Given the description of an element on the screen output the (x, y) to click on. 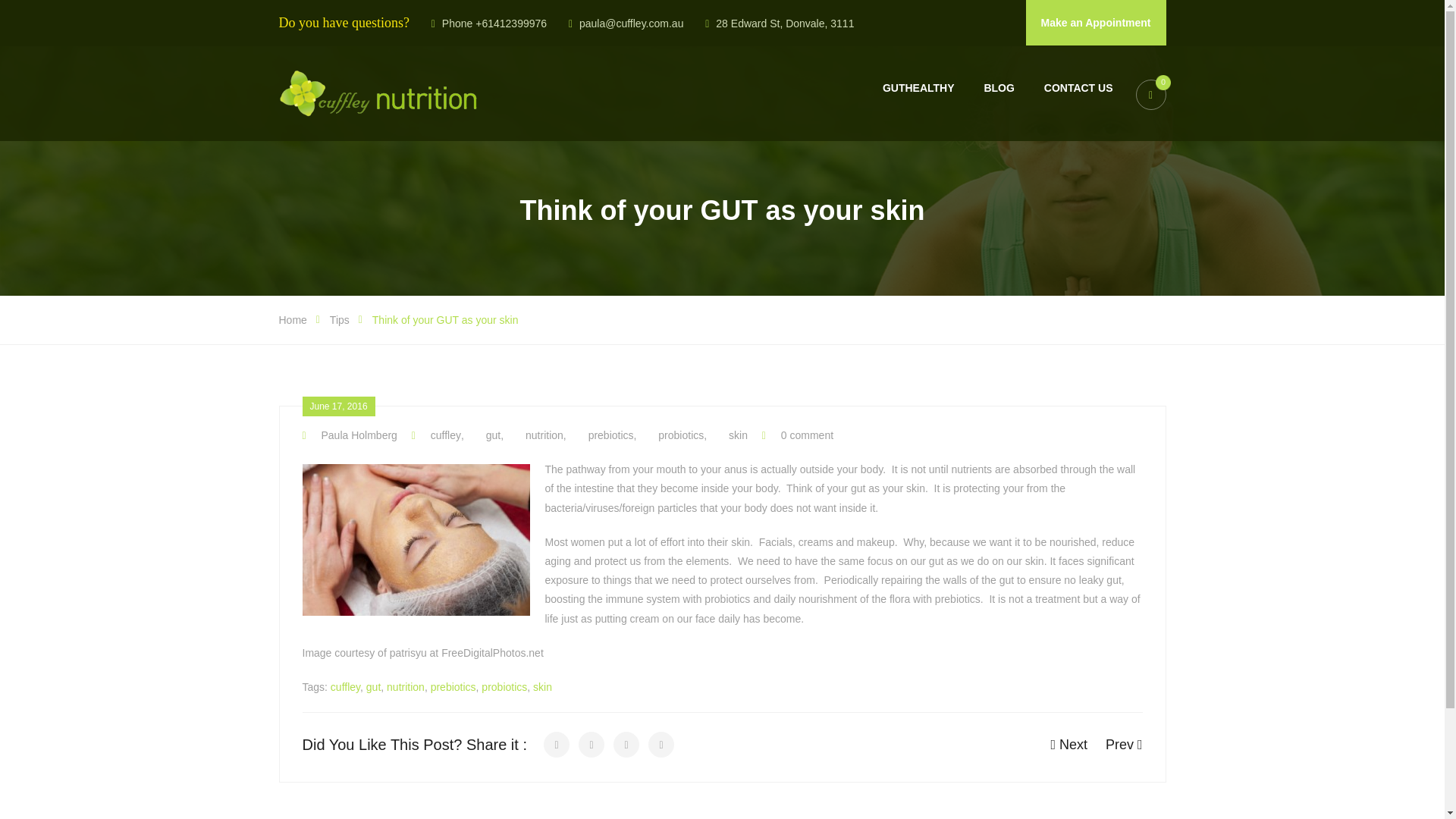
gut (373, 686)
gut (483, 435)
CONTACT US (1078, 87)
Blog (998, 87)
skin (729, 435)
Tips (339, 319)
cuffley (344, 686)
Paula Holmberg (348, 435)
Make an Appointment (1096, 22)
Home (293, 319)
Prev (1123, 744)
skin (541, 686)
cuffley (436, 435)
Contact Us (1078, 87)
BLOG (998, 87)
